Given the description of an element on the screen output the (x, y) to click on. 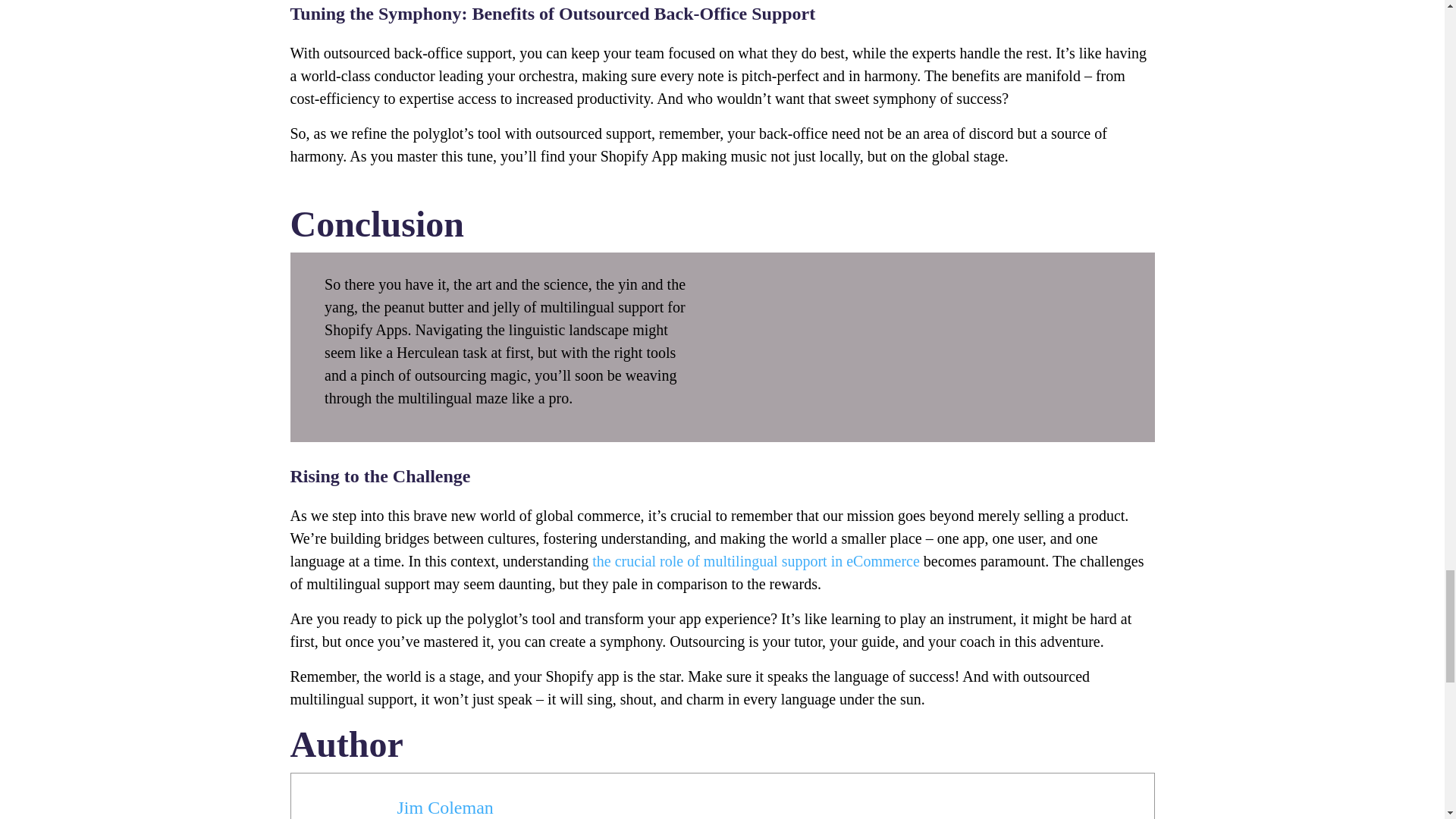
Jim Coleman (445, 807)
the crucial role of multilingual support in eCommerce (756, 560)
Jim Coleman (445, 807)
